Given the description of an element on the screen output the (x, y) to click on. 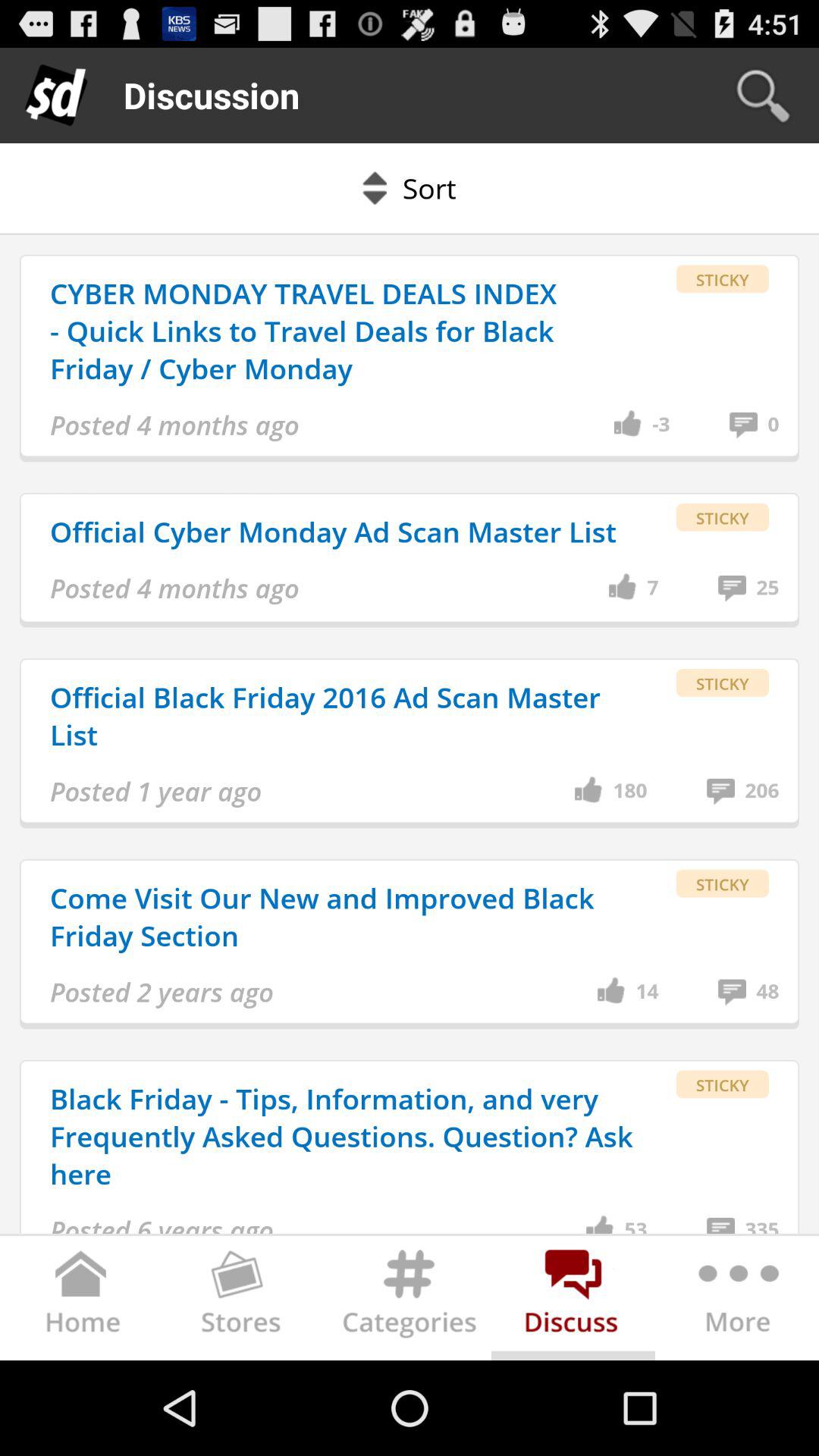
bottom navigation to stores (245, 1301)
